Given the description of an element on the screen output the (x, y) to click on. 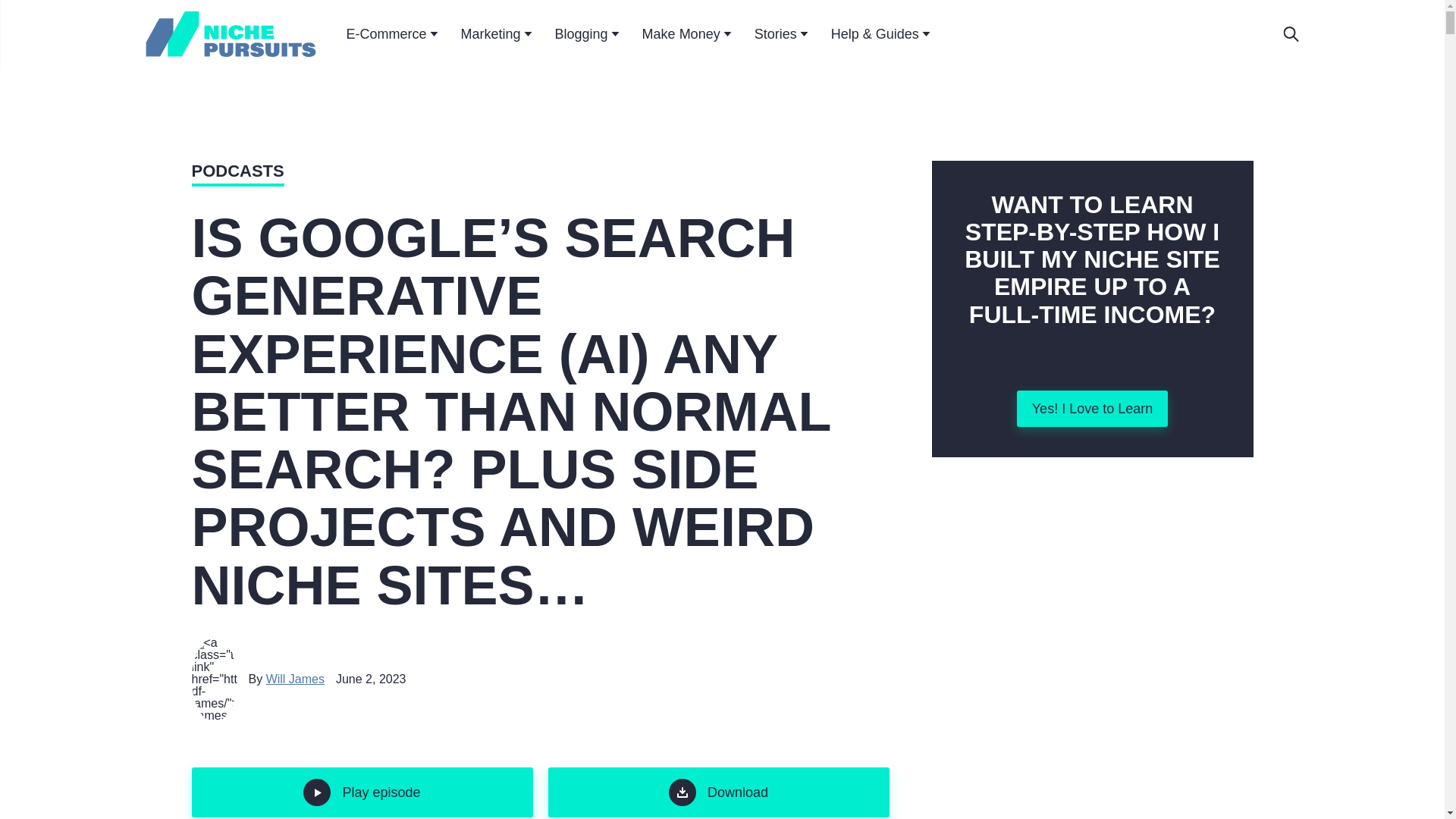
Will James (295, 678)
Play episode (361, 792)
Download (717, 792)
PODCASTS (236, 172)
Download (717, 792)
Play episode (361, 792)
